Given the description of an element on the screen output the (x, y) to click on. 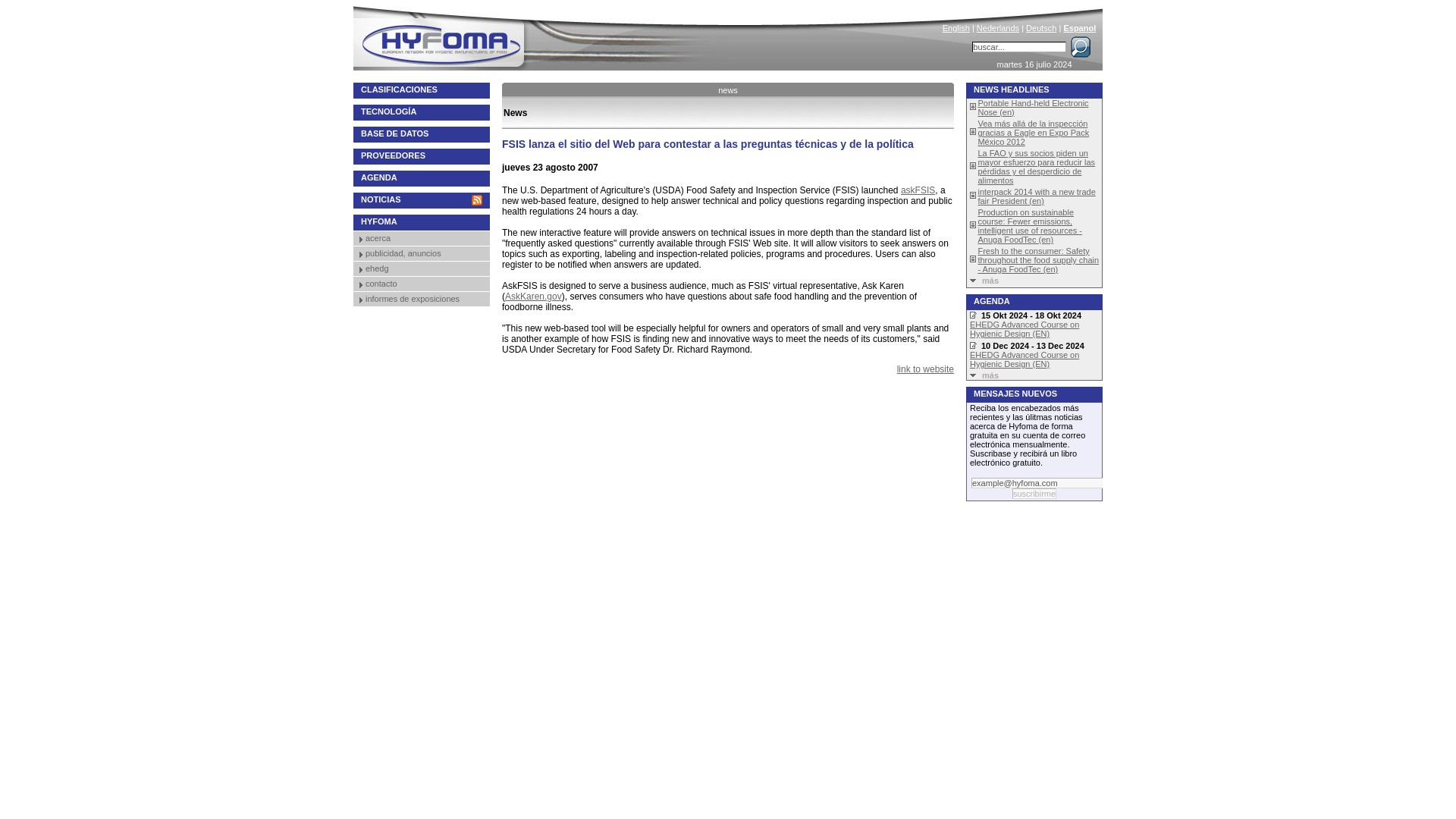
askFSIS (917, 190)
Espanol (1079, 27)
CLASIFICACIONES (421, 90)
buscar... (1018, 46)
news (727, 89)
AskKaren.gov (533, 296)
link to website (924, 368)
Deutsch (1041, 27)
suscribirme (1034, 493)
buscar... (1018, 46)
Home (543, 34)
English (955, 27)
Nederlands (997, 27)
BASE DE DATOS (421, 134)
